Given the description of an element on the screen output the (x, y) to click on. 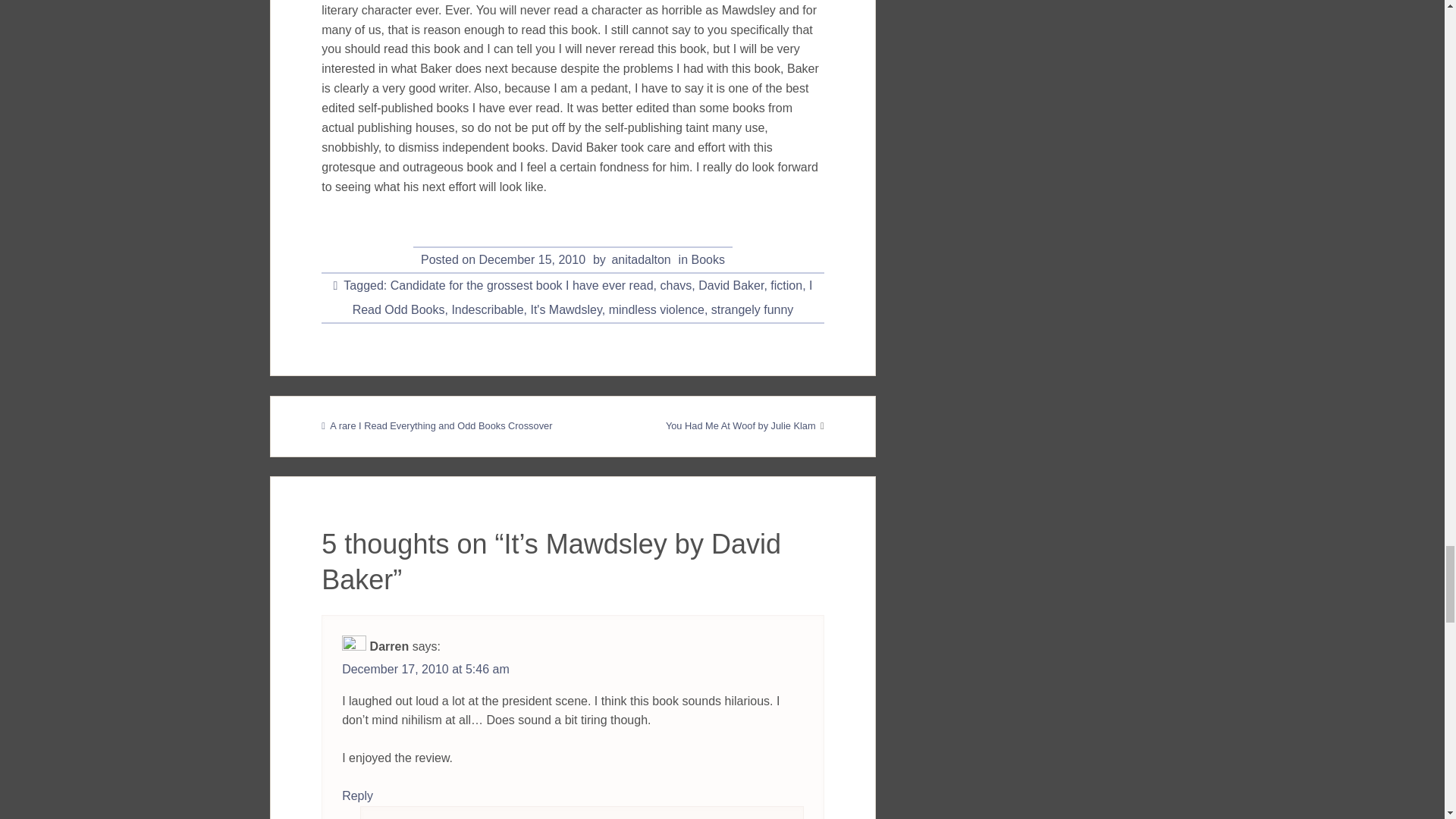
David Baker (730, 285)
A rare I Read Everything and Odd Books Crossover (436, 426)
Reply (357, 796)
It's Mawdsley (565, 309)
December 17, 2010 at 5:46 am (425, 669)
strangely funny (752, 309)
chavs (675, 285)
I Read Odd Books (582, 297)
mindless violence (656, 309)
You Had Me At Woof by Julie Klam (740, 426)
Indescribable (486, 309)
fiction (786, 285)
Books (708, 259)
Candidate for the grossest book I have ever read (521, 285)
anitadalton (640, 259)
